Given the description of an element on the screen output the (x, y) to click on. 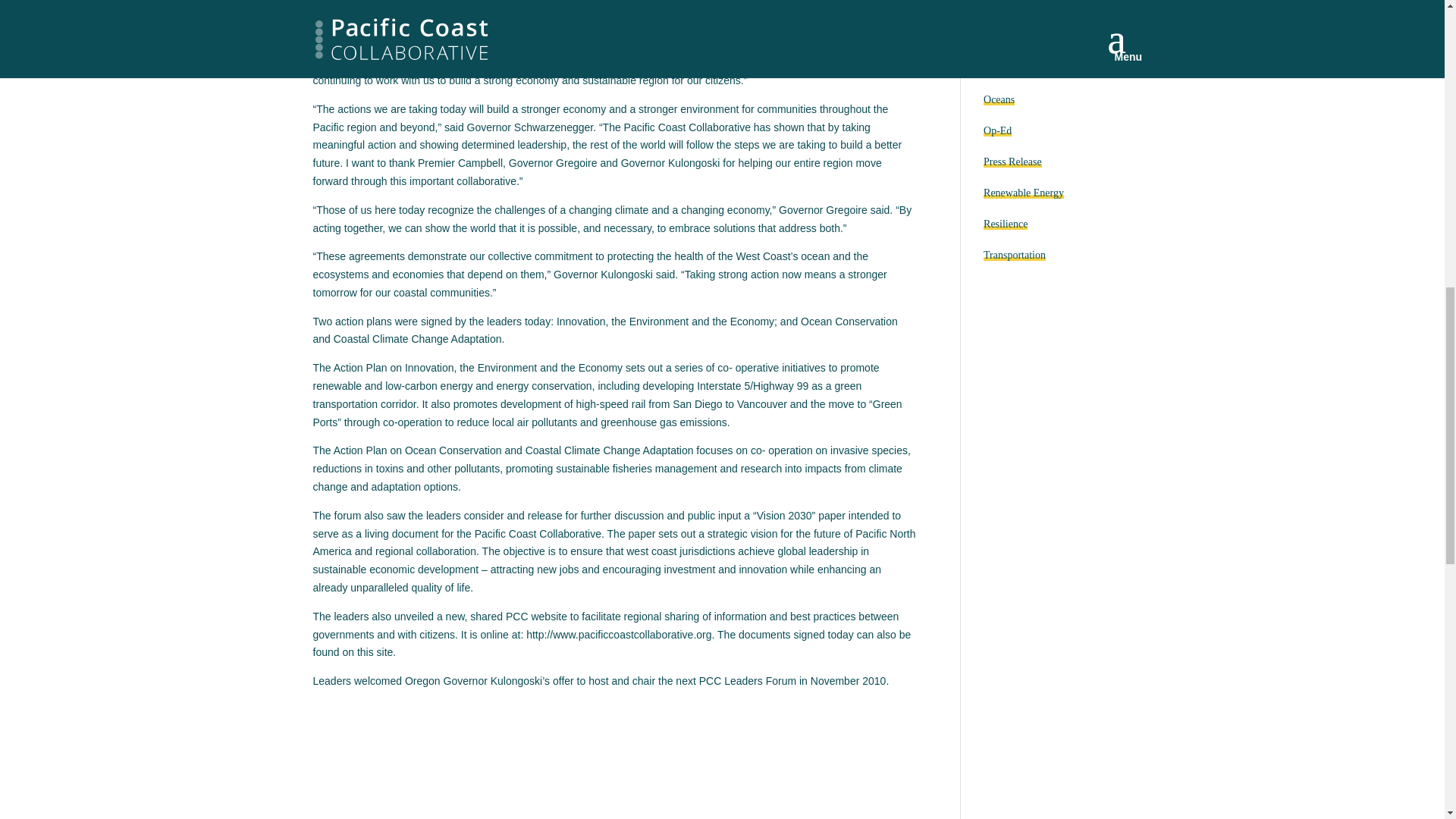
Op-Ed (997, 130)
Press Release (1013, 161)
Joint Statement (1016, 6)
Transportation (1014, 255)
Renewable Energy (1024, 193)
Media Availability (1023, 68)
Low-Carbon Economy (1032, 37)
Resilience (1005, 224)
Oceans (999, 99)
